Given the description of an element on the screen output the (x, y) to click on. 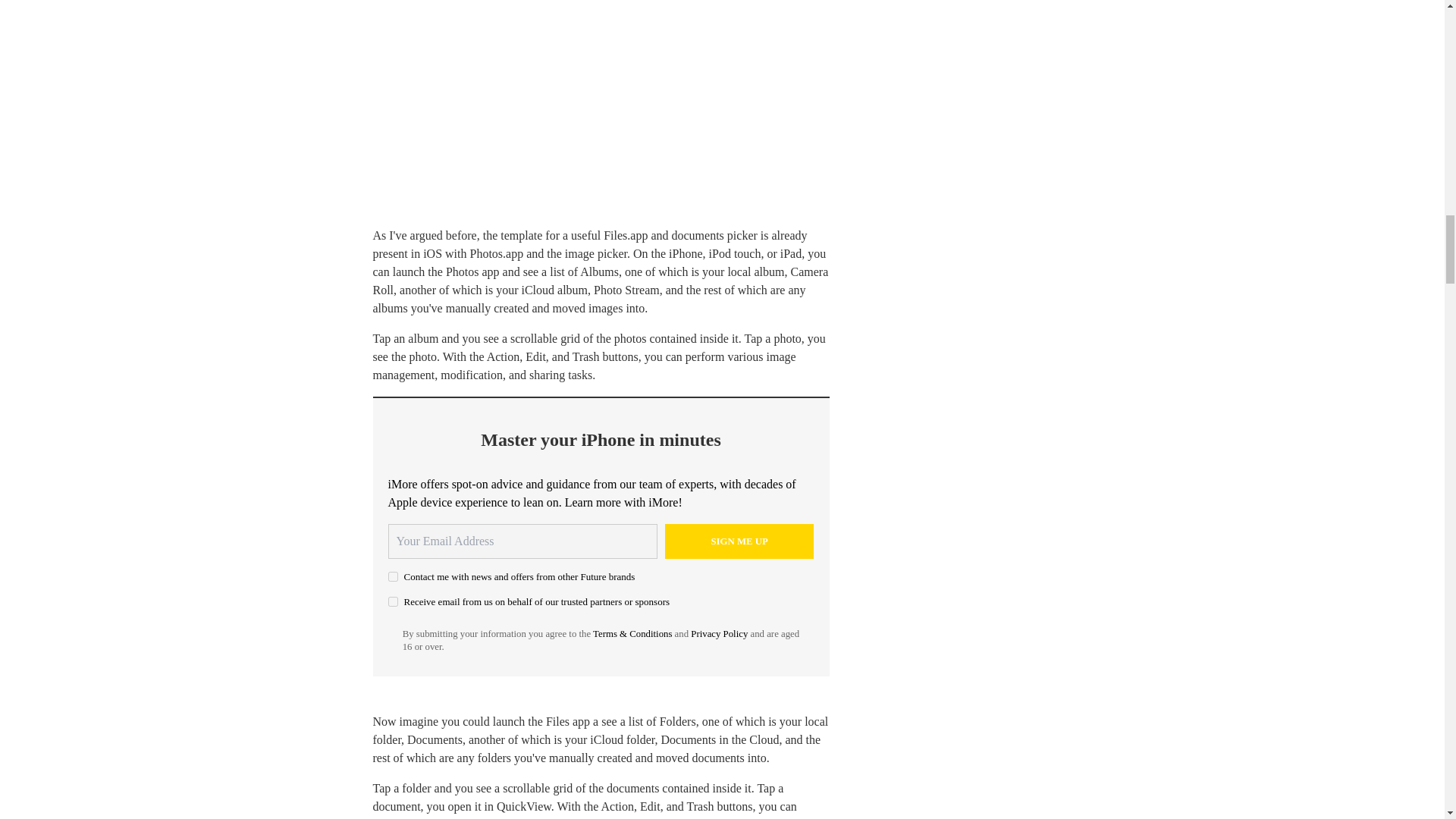
Sign me up (739, 541)
on (392, 601)
on (392, 576)
